Given the description of an element on the screen output the (x, y) to click on. 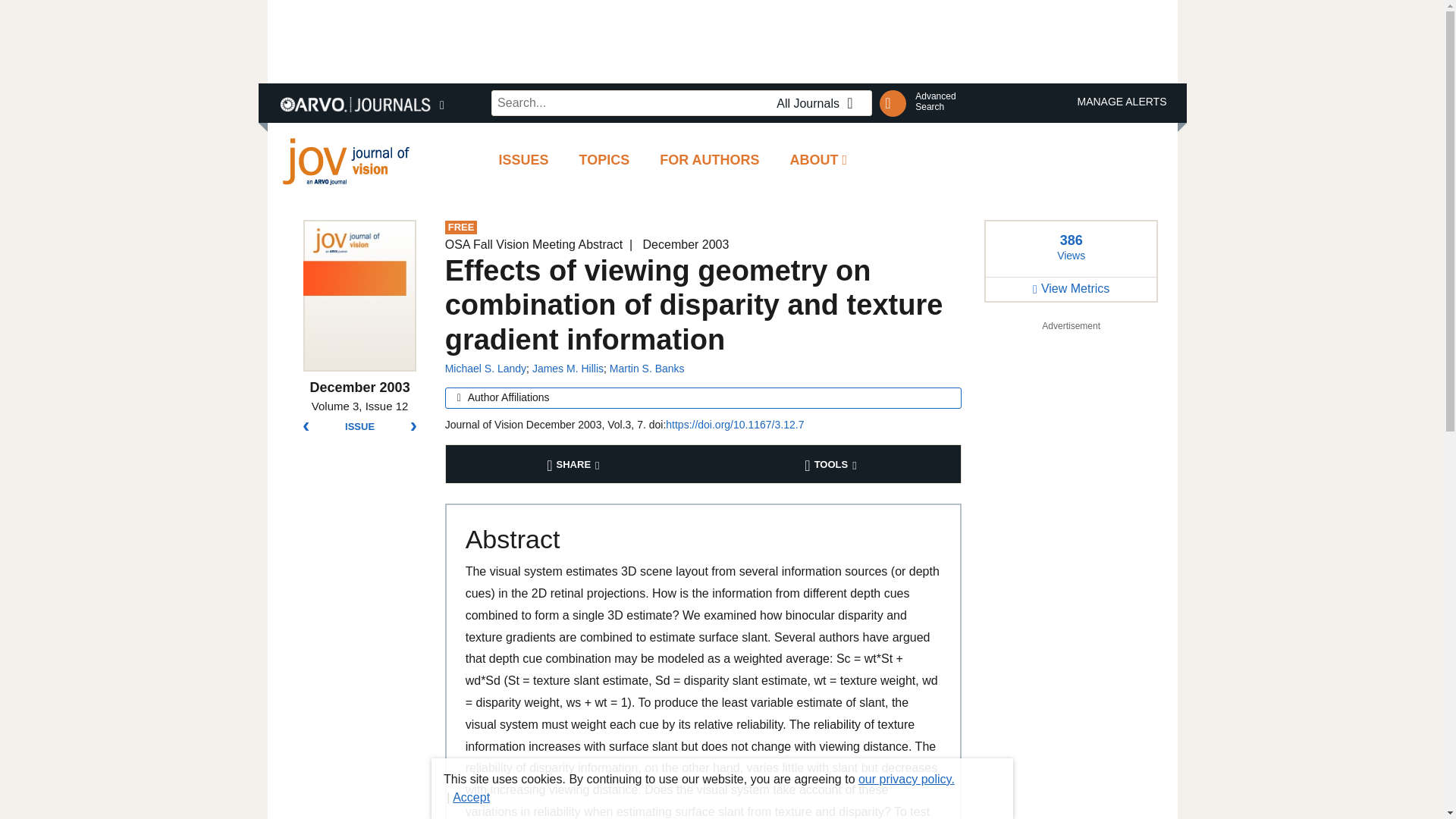
SHARE (574, 464)
ISSUES (523, 160)
ISSUE (935, 101)
ABOUT (359, 426)
Michael S. Landy (818, 160)
TOPICS (485, 368)
3rd party ad content (604, 160)
James M. Hillis (721, 41)
FOR AUTHORS (568, 368)
